Given the description of an element on the screen output the (x, y) to click on. 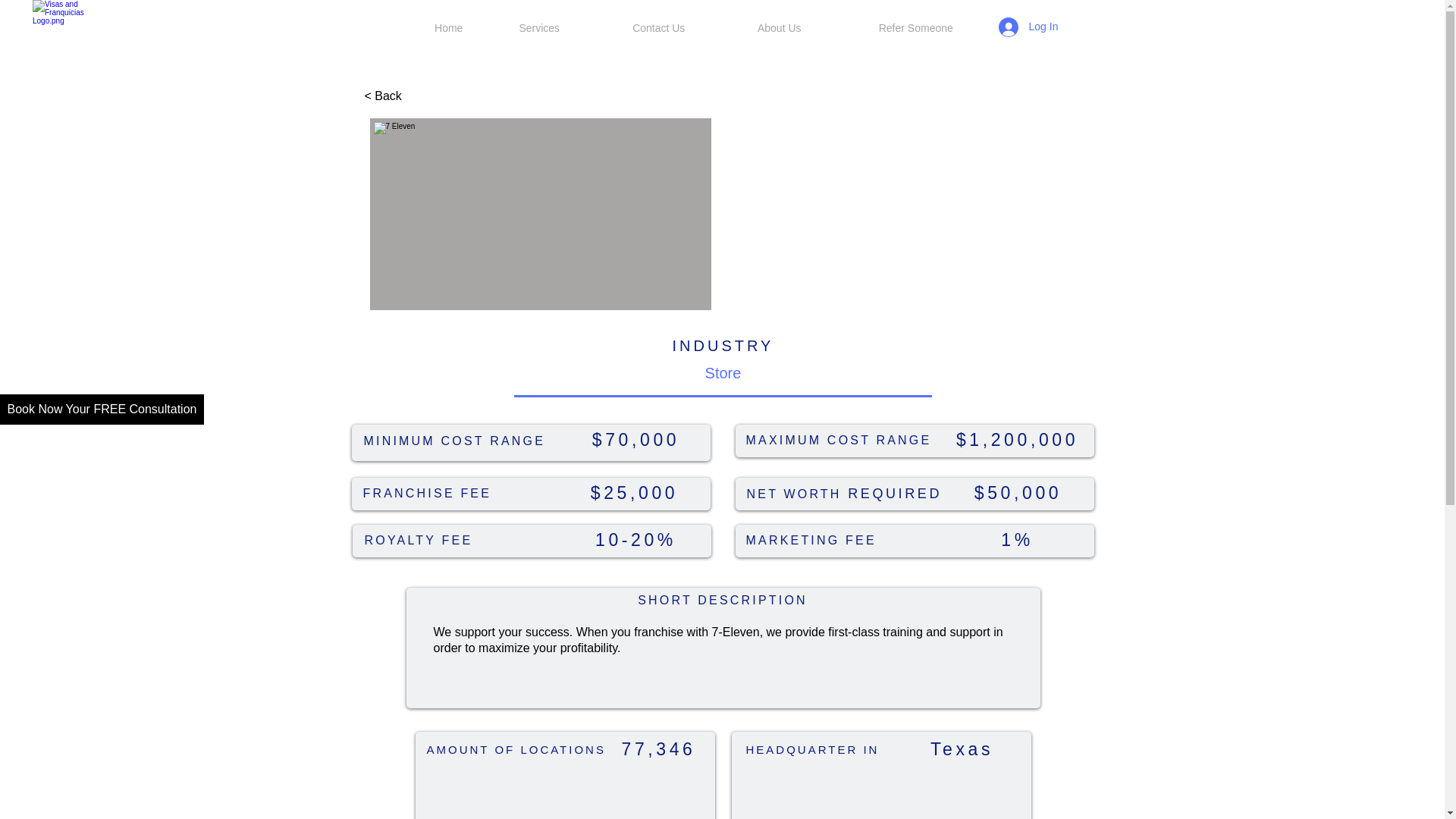
Contact Us (657, 27)
About Us (778, 27)
4.png (72, 40)
Services (538, 27)
Log In (1018, 27)
Refer Someone (915, 27)
Book Now Your FREE Consultation (101, 409)
Home (448, 27)
